Given the description of an element on the screen output the (x, y) to click on. 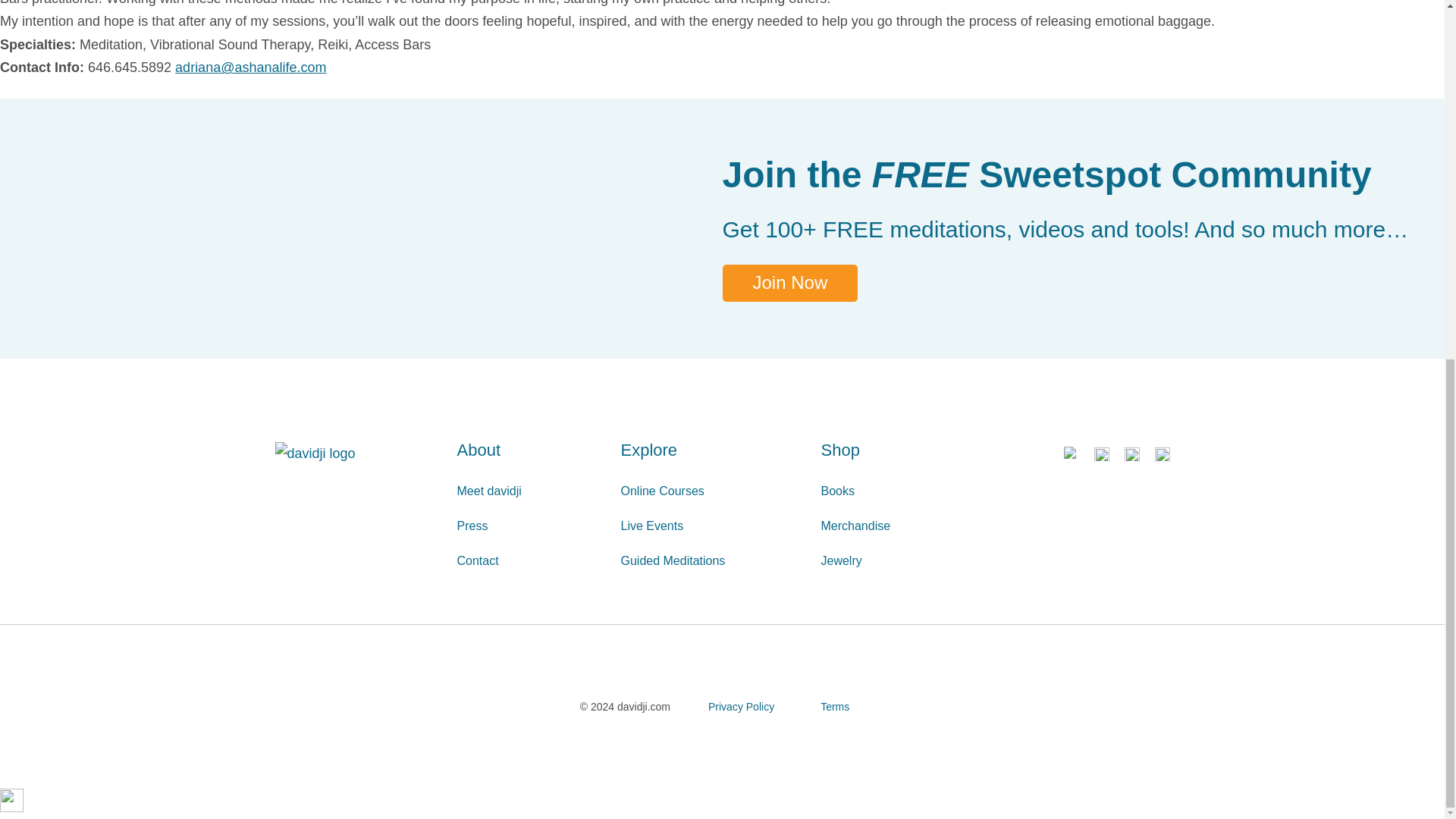
Contact (531, 560)
Live Events (712, 525)
Books (904, 491)
LiveInternet (11, 800)
Join Now (789, 283)
Merchandise (904, 525)
Jewelry (904, 560)
Meet davidji (531, 491)
Press (531, 525)
Online Courses (712, 491)
